Given the description of an element on the screen output the (x, y) to click on. 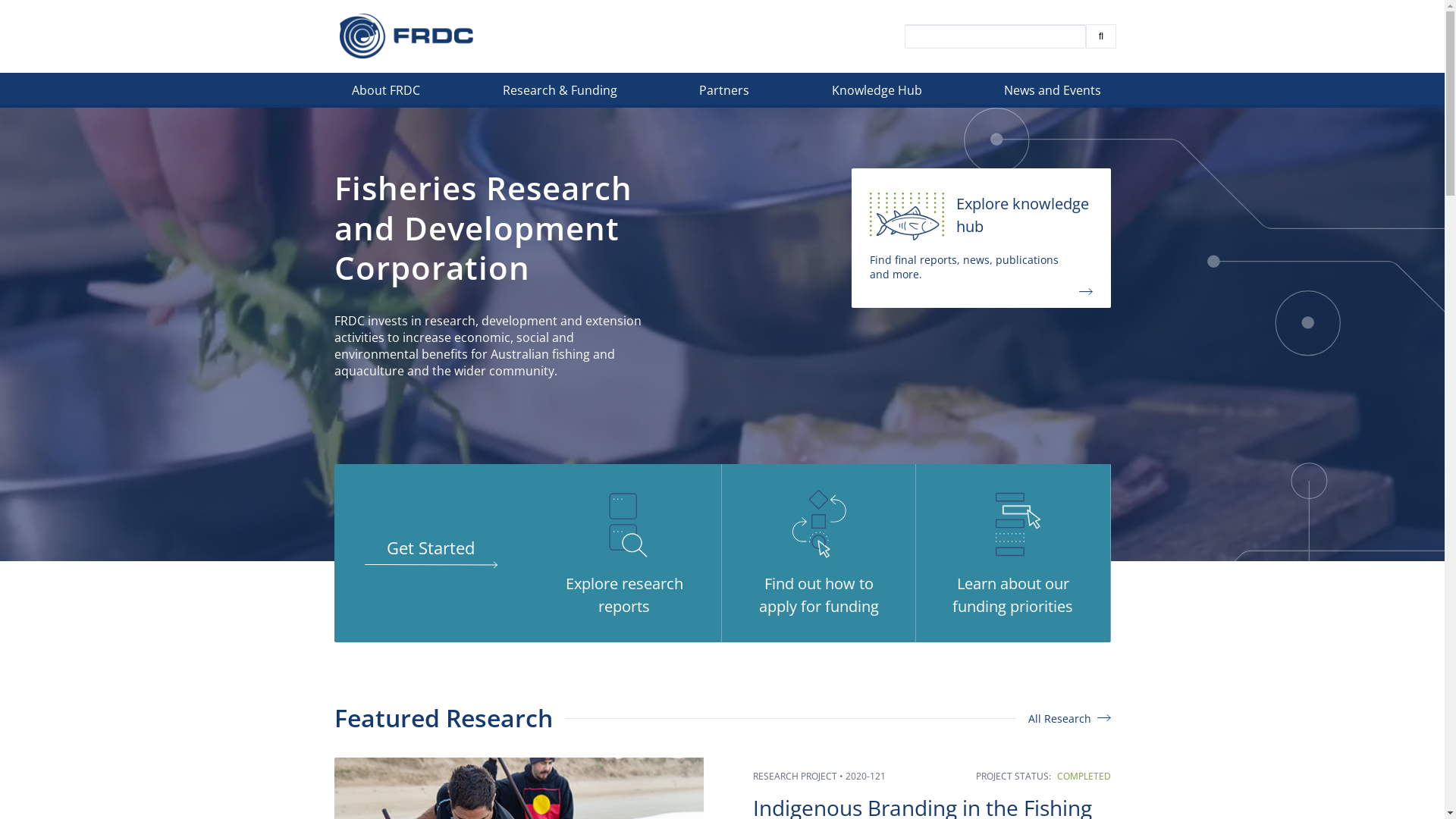
News and Events Element type: text (1053, 93)
About FRDC Element type: text (387, 93)
Find out how to apply for funding Element type: text (818, 553)
Skip to main content Element type: text (0, 107)
Learn about our funding priorities Element type: text (1013, 553)
Partners Element type: text (725, 93)
Research & Funding Element type: text (560, 93)
Home Element type: hover (406, 36)
Knowledge Hub Element type: text (877, 93)
Explore research reports Element type: text (624, 553)
All Research Element type: text (1069, 718)
